Given the description of an element on the screen output the (x, y) to click on. 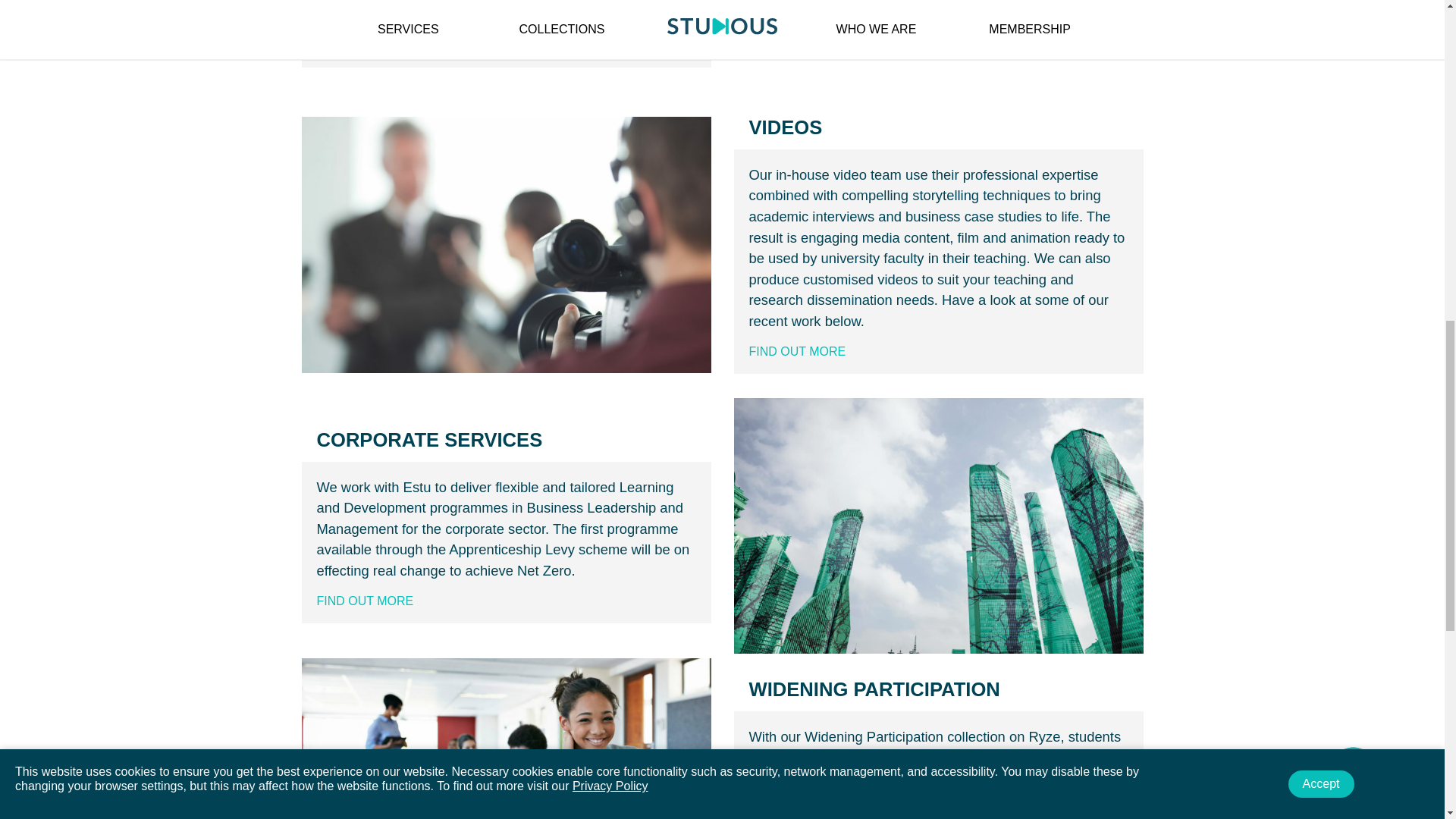
FIND OUT MORE (365, 600)
FIND OUT MORE (797, 350)
CHECK OUT THE RYZE WEBSITE (412, 44)
